Given the description of an element on the screen output the (x, y) to click on. 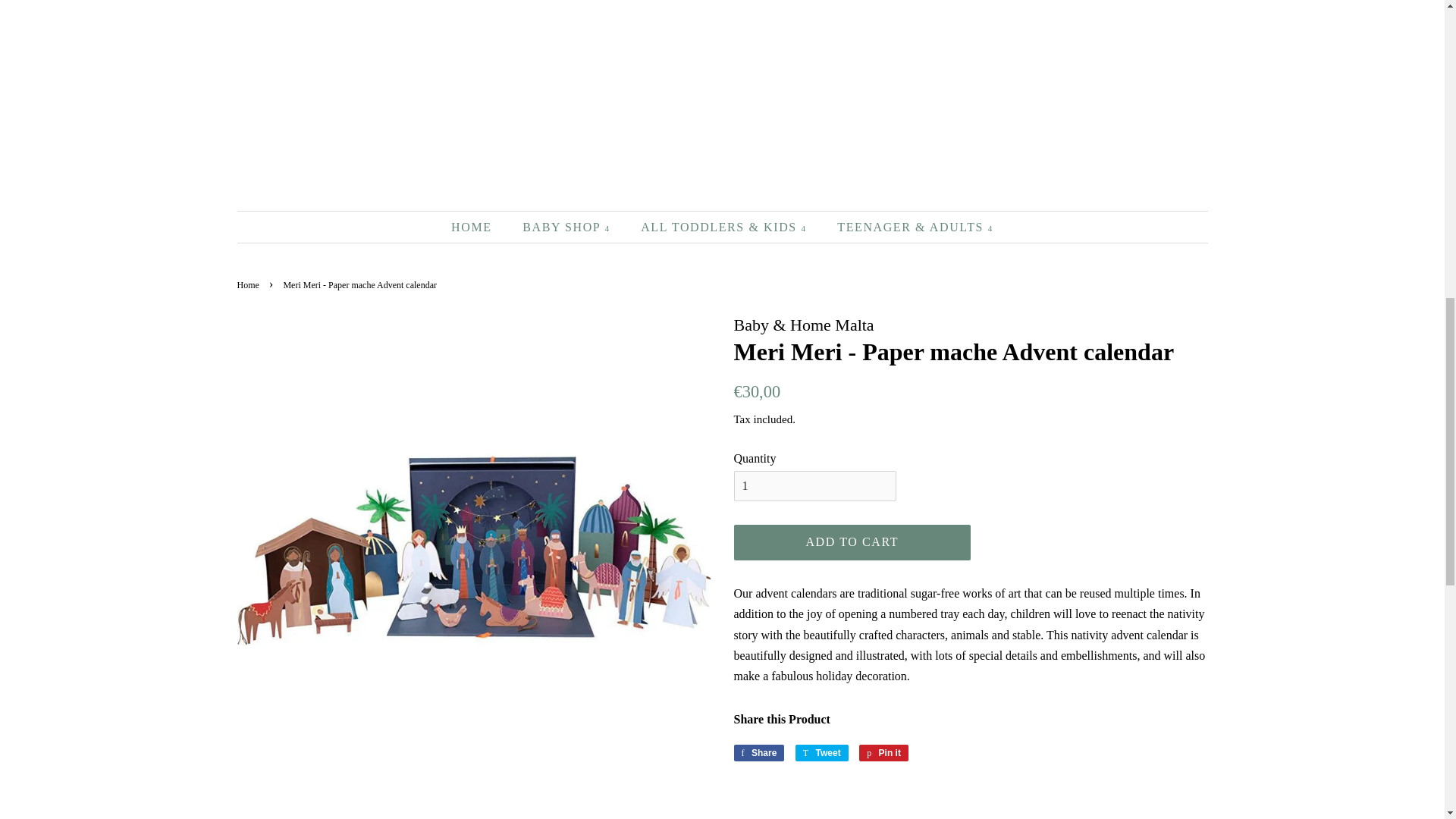
Pin on Pinterest (883, 752)
Back to the frontpage (248, 285)
Tweet on Twitter (821, 752)
Share on Facebook (758, 752)
1 (814, 486)
